Given the description of an element on the screen output the (x, y) to click on. 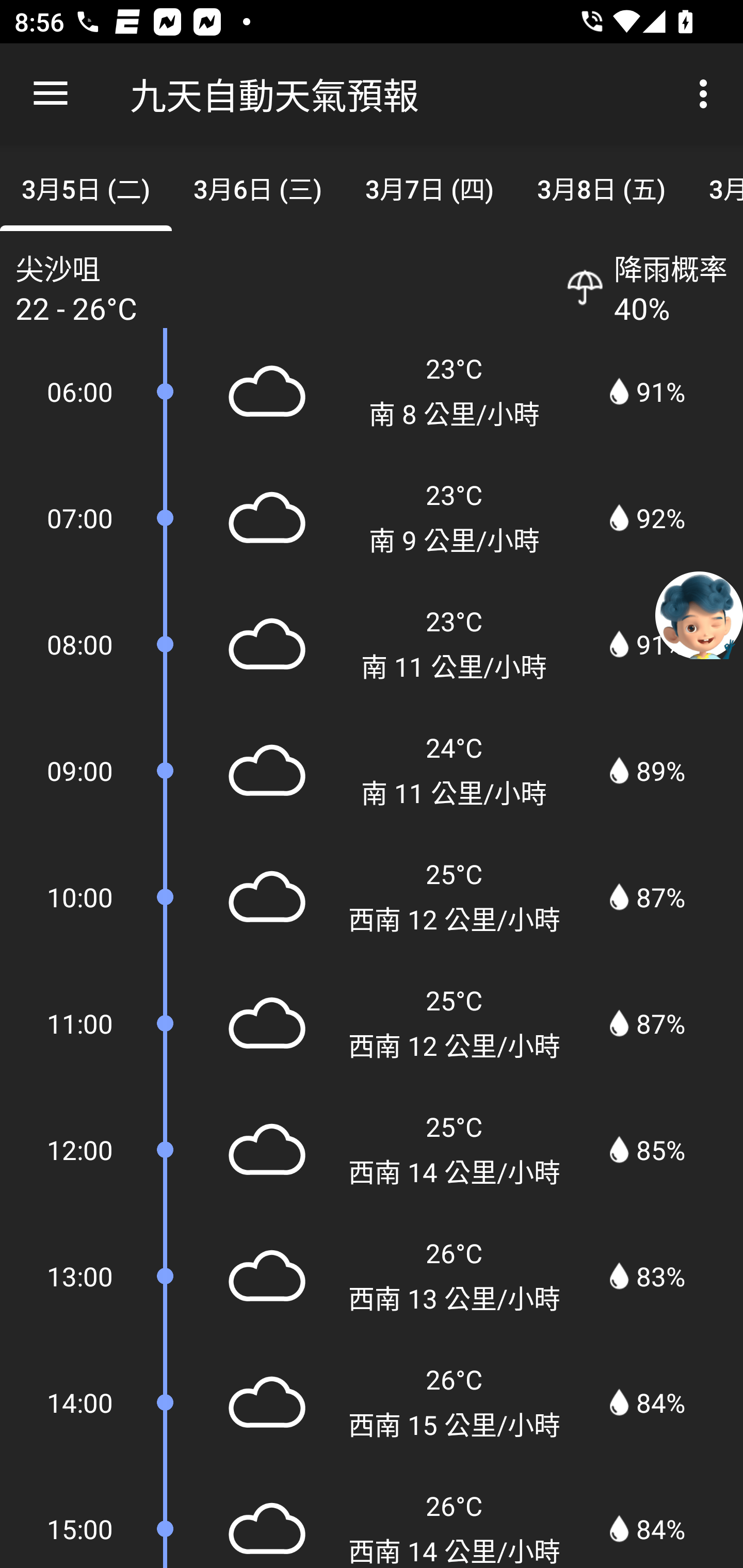
向上瀏覽 (50, 93)
更多選項 (706, 93)
3月6日 (三) (257, 187)
3月7日 (四) (429, 187)
3月8日 (五) (601, 187)
聊天機械人 (699, 614)
